Given the description of an element on the screen output the (x, y) to click on. 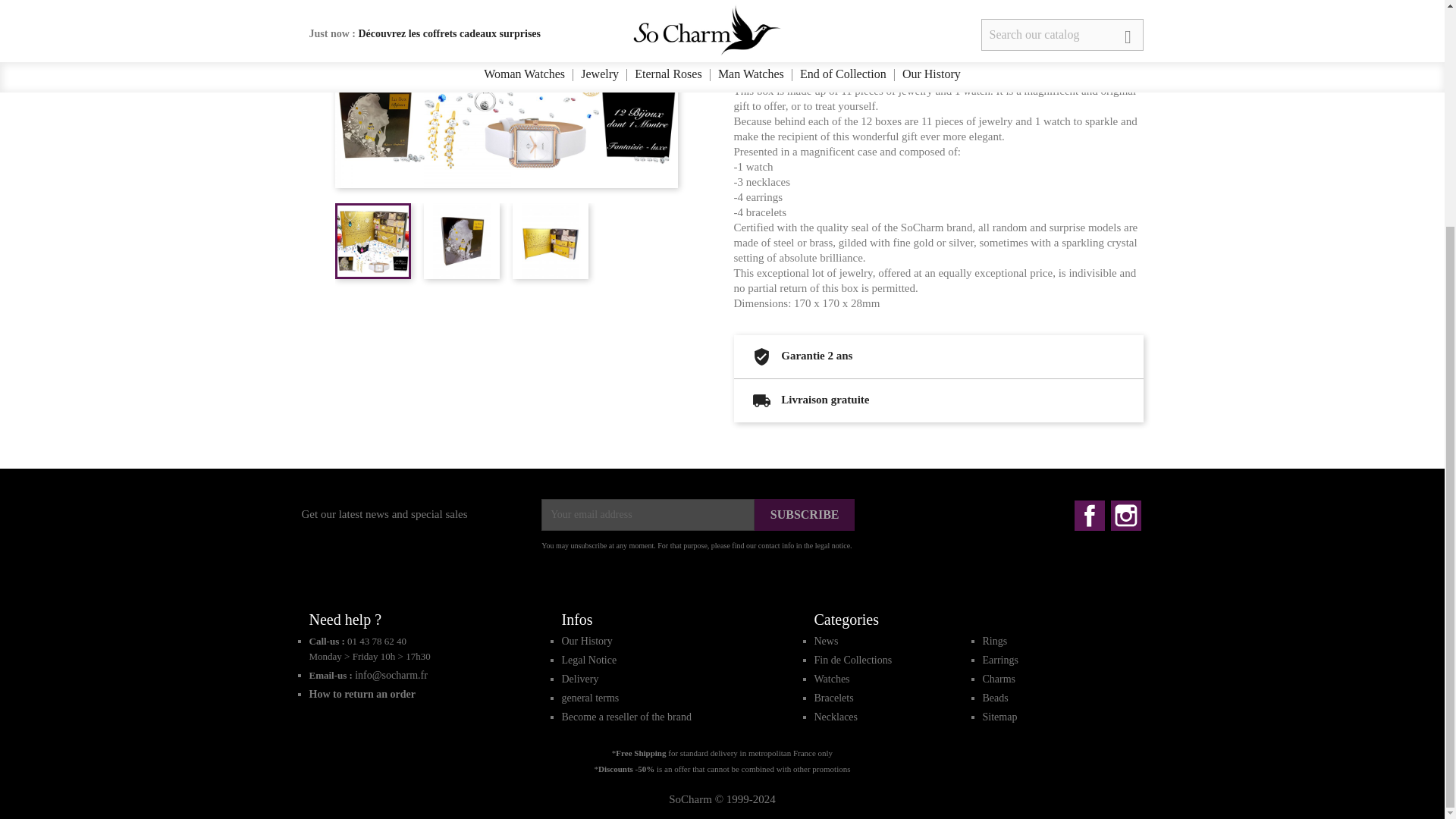
Delivery (579, 678)
Become a reseller of the brand (625, 716)
Necklaces (836, 716)
Our History (585, 641)
News (825, 641)
Subscribe (805, 514)
Instagram (1125, 515)
general terms (589, 697)
Fin de Collections (852, 659)
Subscribe (805, 514)
